Given the description of an element on the screen output the (x, y) to click on. 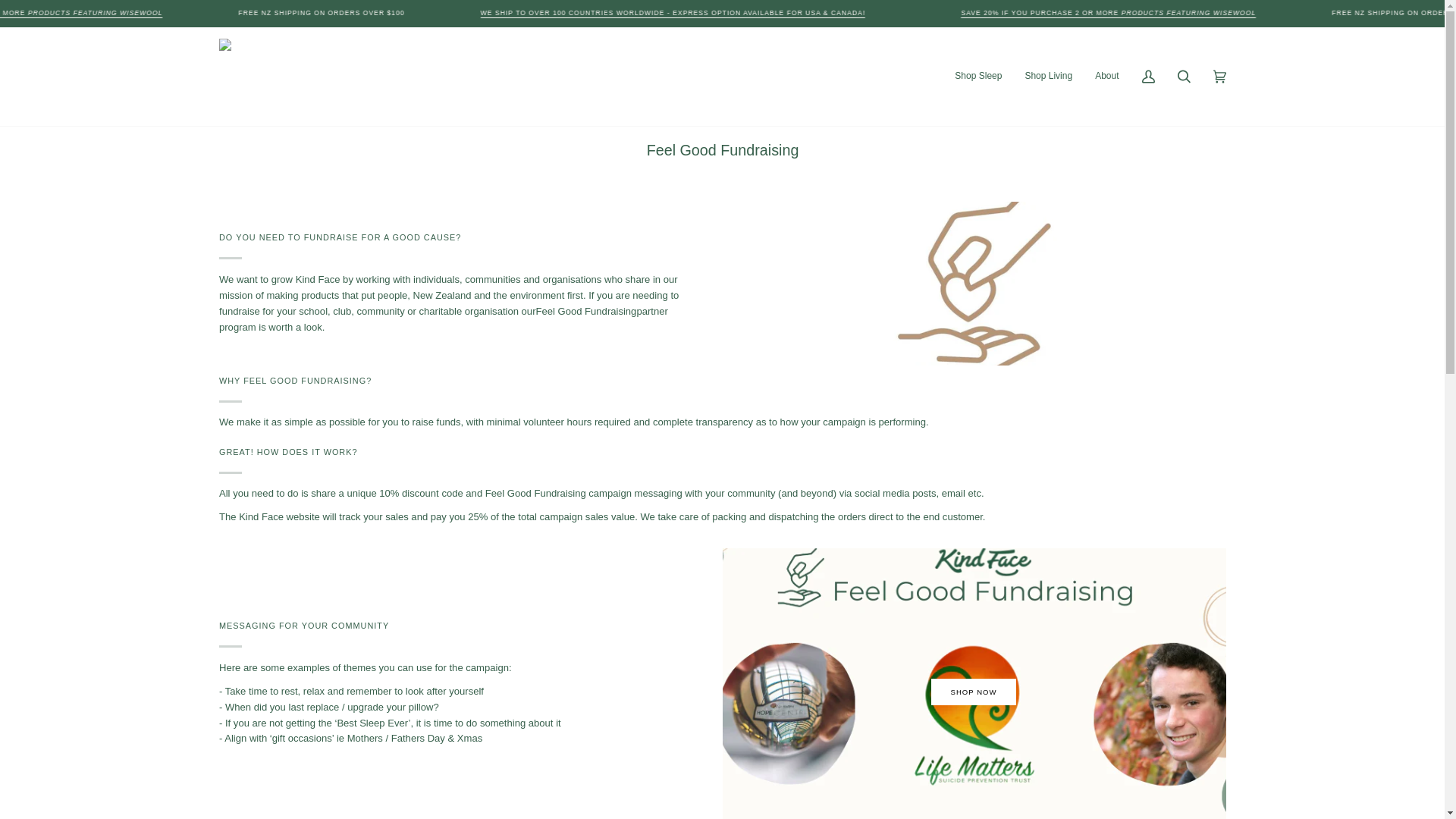
Shipping Policy (800, 12)
